Given the description of an element on the screen output the (x, y) to click on. 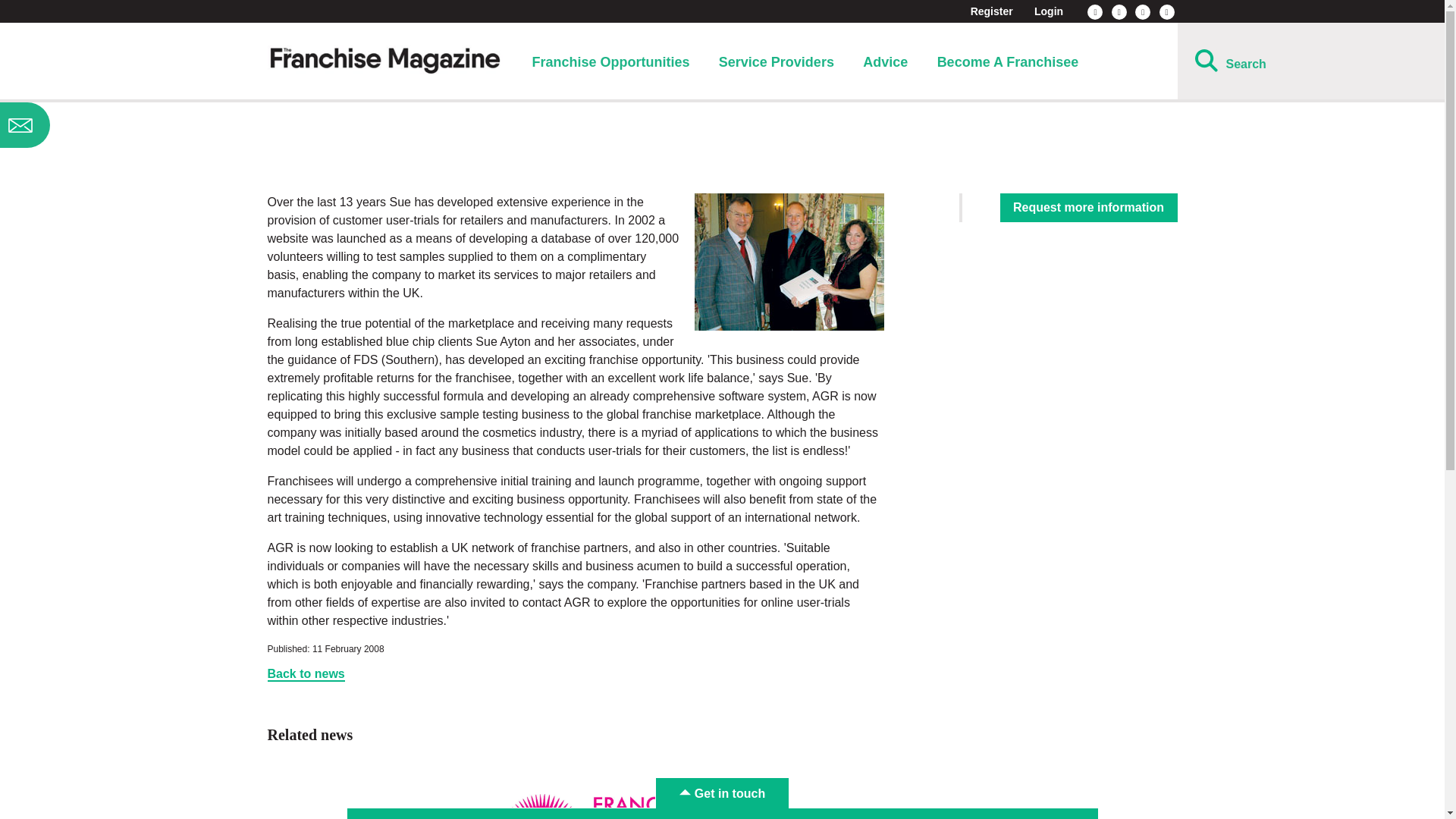
Service Providers (776, 61)
Login (1047, 10)
Advice (885, 61)
Become A Franchisee (1007, 61)
Register (992, 10)
Service Providers (776, 61)
Login (1047, 10)
Sign up to the newsletter (120, 125)
Franchise Opportunities (609, 61)
SignupModal (120, 125)
